Given the description of an element on the screen output the (x, y) to click on. 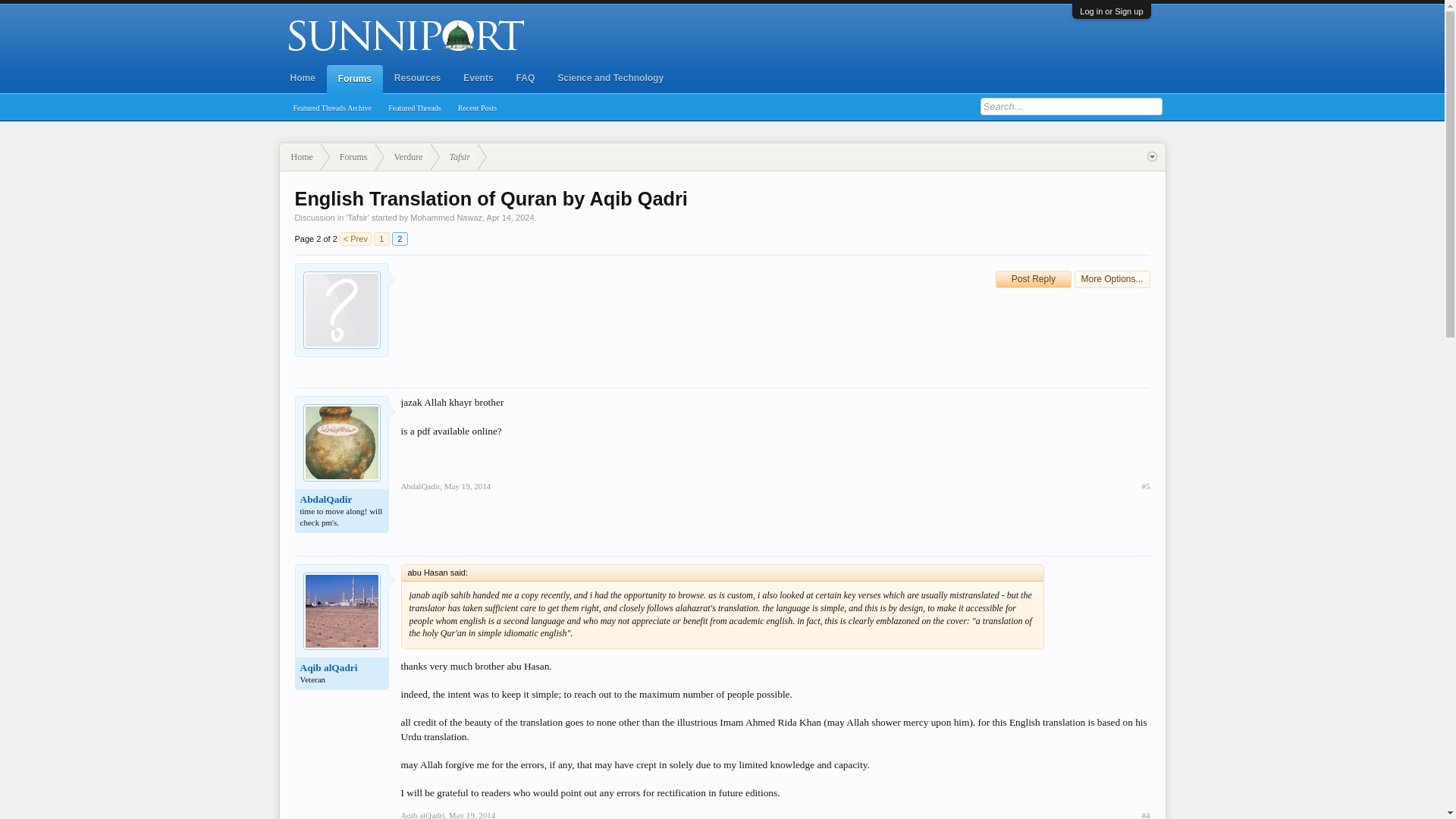
Open quick navigation (1151, 156)
Permalink (467, 485)
Post Reply (1033, 279)
AbdalQadir (419, 485)
Post Reply (1033, 279)
May 19, 2014 (467, 485)
AbdalQadir (341, 499)
Permalink (1145, 814)
Apr 14, 2024 (510, 216)
1 (382, 238)
